Given the description of an element on the screen output the (x, y) to click on. 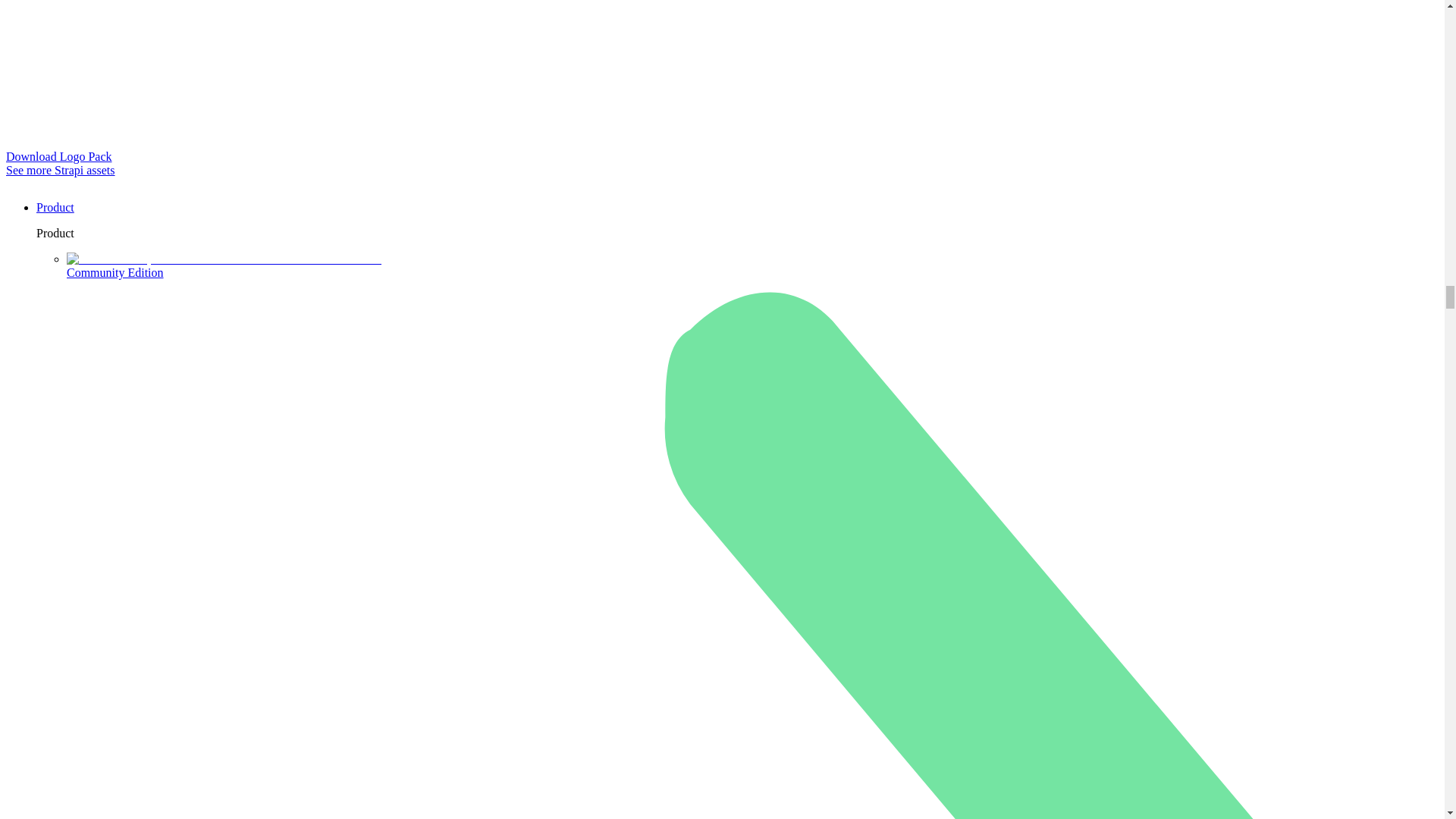
Download Logo Pack (58, 155)
See more Strapi assets (60, 169)
